Given the description of an element on the screen output the (x, y) to click on. 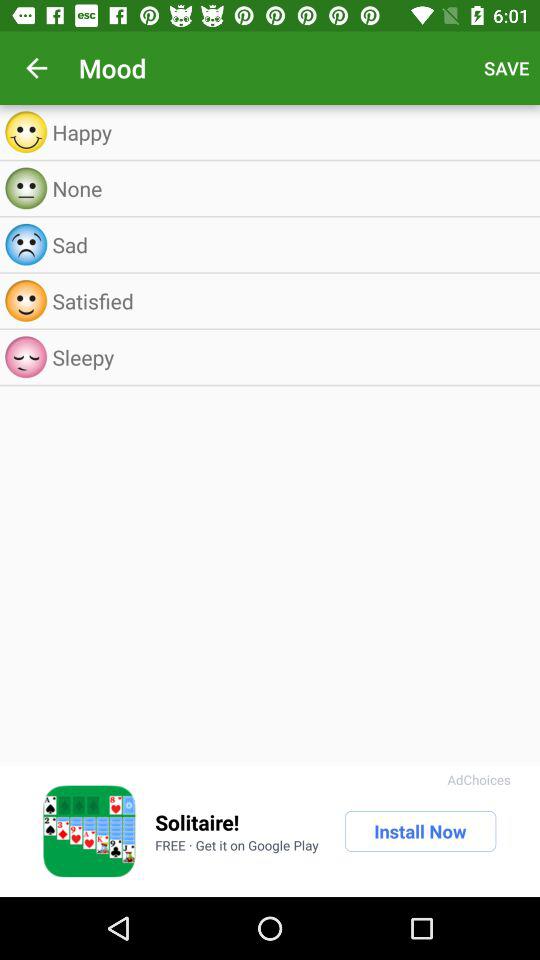
flip until the free get it (236, 845)
